Given the description of an element on the screen output the (x, y) to click on. 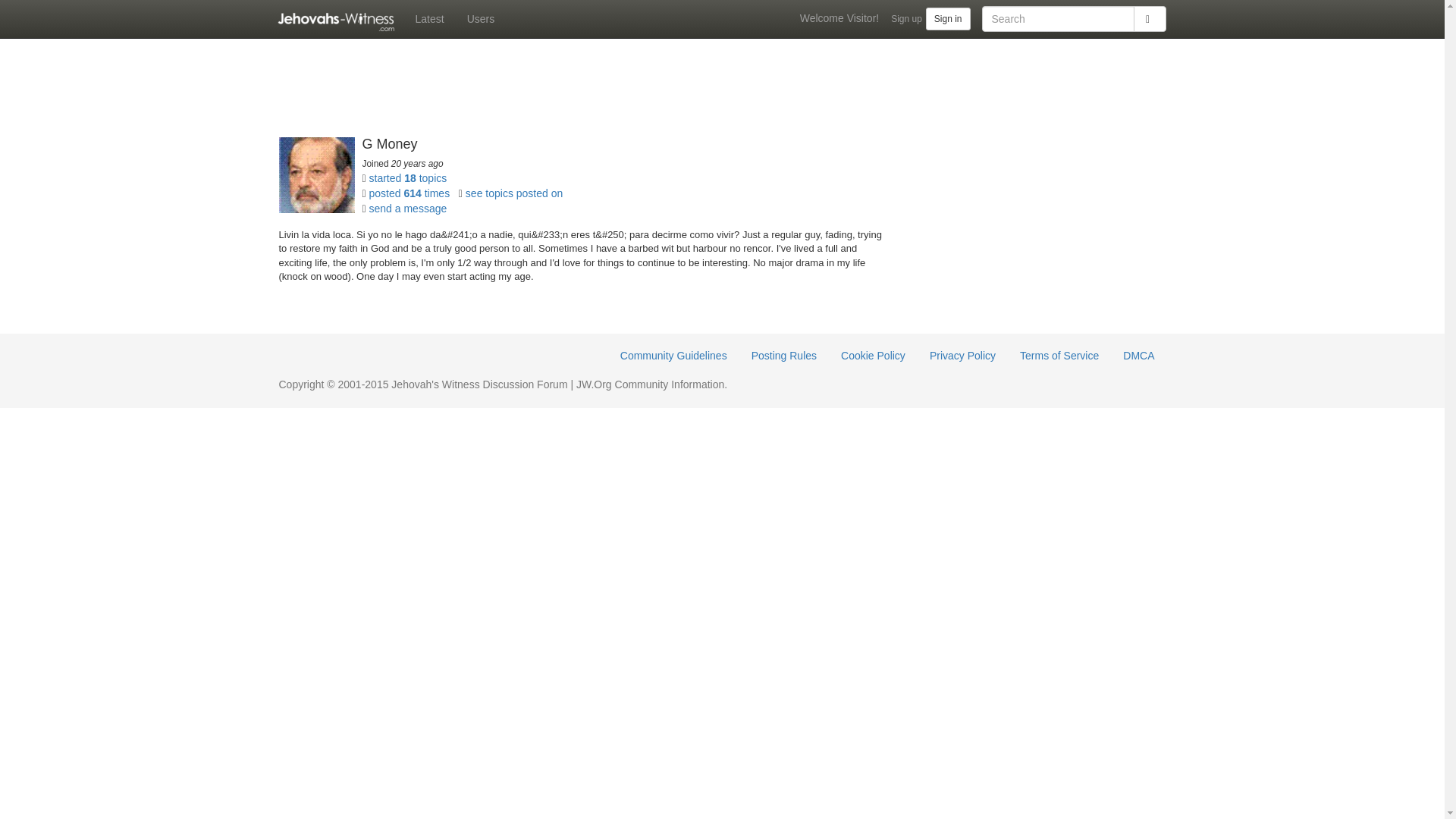
Users (480, 18)
Sat, Jan 15 2005, 03:38:00 (417, 163)
Latest (428, 18)
Sign up (906, 18)
Sign in (948, 18)
Cookie Policy (873, 356)
posted 614 times (409, 193)
Terms of Service (1059, 356)
send a message (407, 208)
Posting Rules (783, 356)
started 18 topics (407, 177)
Privacy Policy (962, 356)
DMCA (1139, 356)
see topics posted on (513, 193)
Community Guidelines (673, 356)
